Given the description of an element on the screen output the (x, y) to click on. 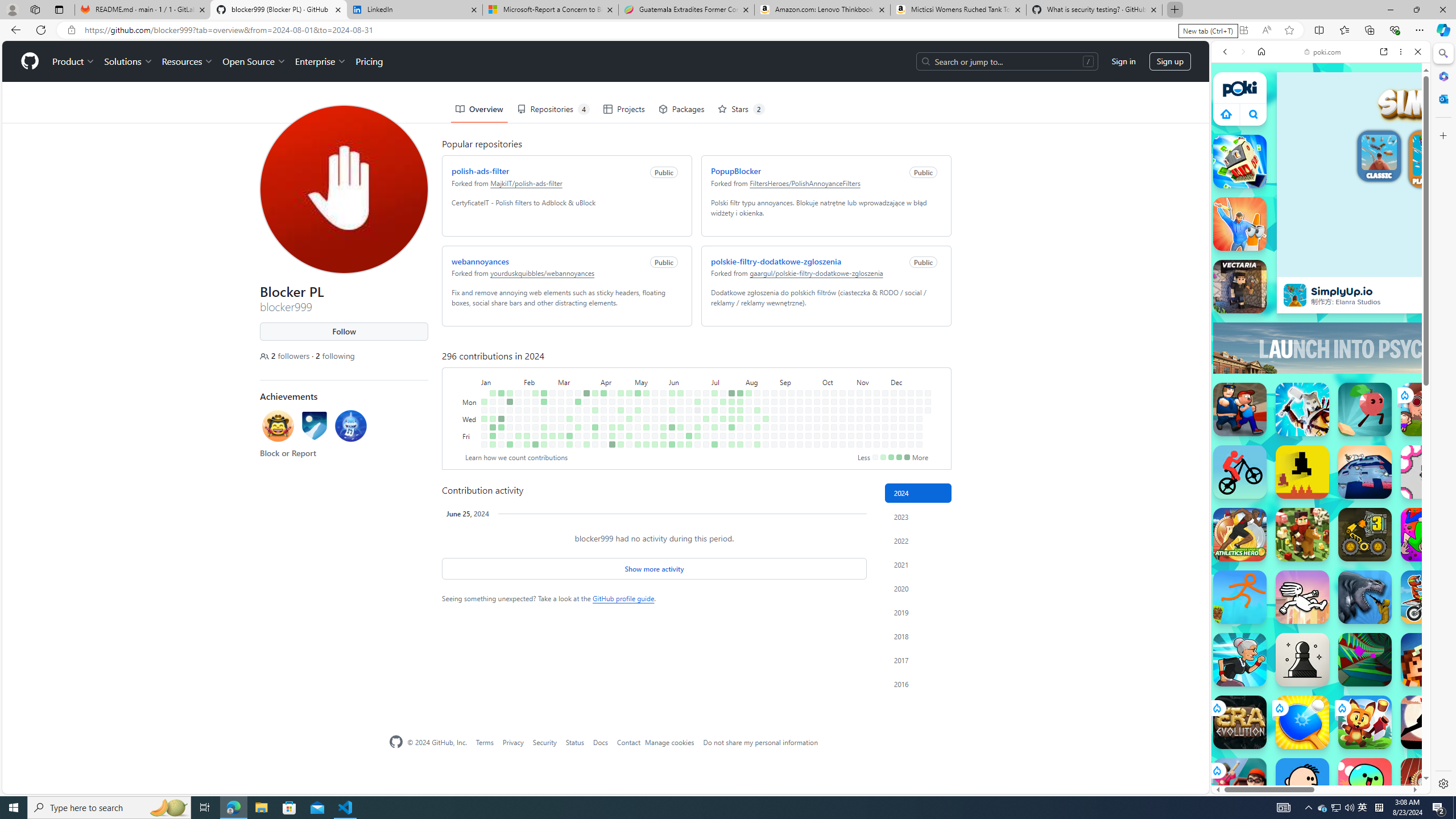
polskie-filtry-dodatkowe-zgloszenia (775, 260)
Search results from poki.com (1299, 443)
Terms (484, 741)
Io Games (1320, 351)
No contributions on June 10th. (680, 401)
No contributions on August 19th. (765, 401)
No contributions on March 4th. (560, 401)
Open Source (254, 60)
No contributions on February 13th. (535, 410)
Level Devil Level Devil (1302, 471)
No contributions on September 28th. (807, 444)
6 contributions on July 25th. (731, 427)
No contributions on October 15th. (834, 410)
